Given the description of an element on the screen output the (x, y) to click on. 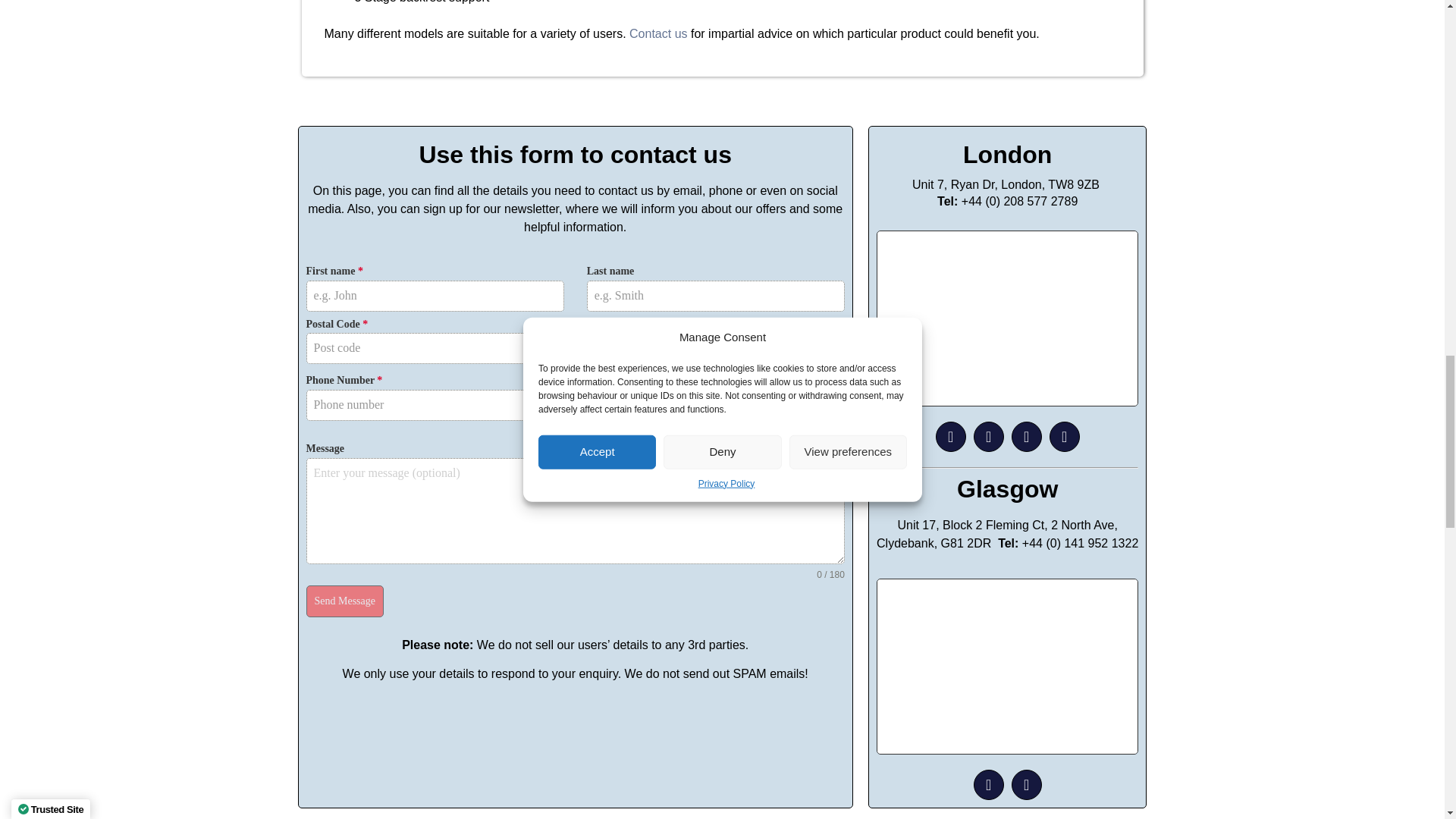
Telephone (614, 426)
